Given the description of an element on the screen output the (x, y) to click on. 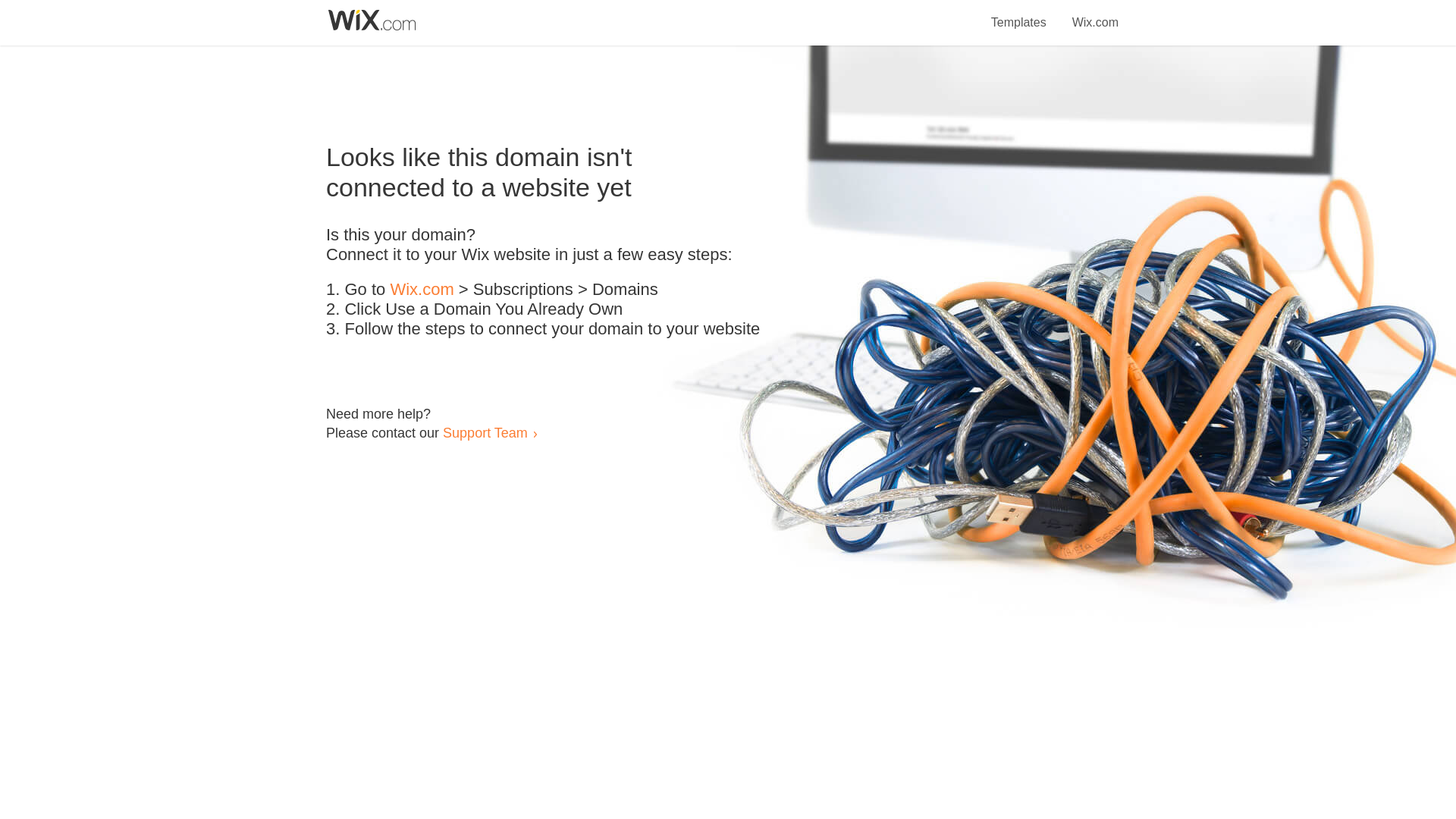
Support Team (484, 432)
Wix.com (421, 289)
Templates (1018, 14)
Wix.com (1095, 14)
